Given the description of an element on the screen output the (x, y) to click on. 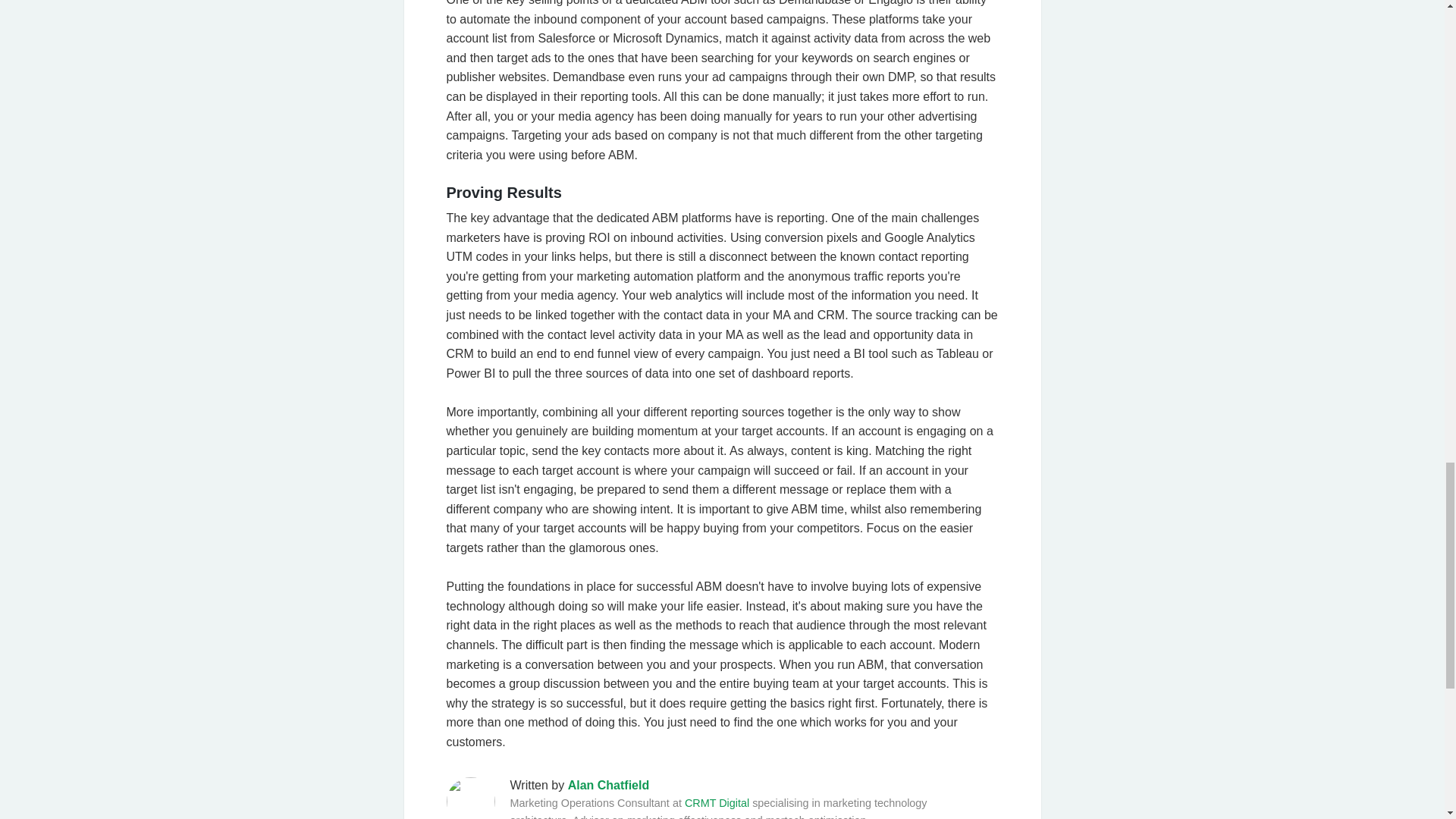
Alan Chatfield (608, 784)
Alan Chatfield (608, 784)
CRMT Digital (716, 802)
